Given the description of an element on the screen output the (x, y) to click on. 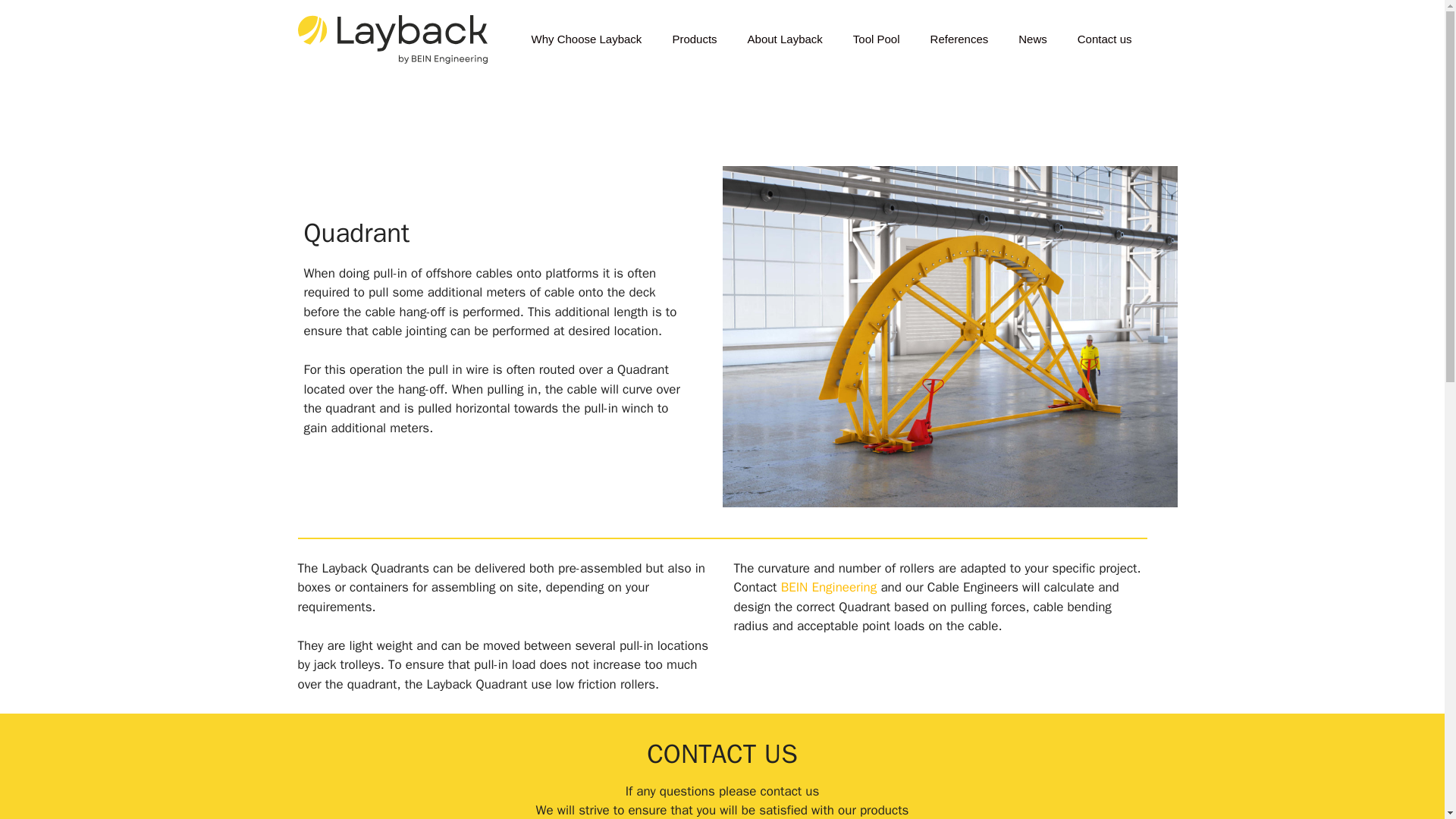
News (1032, 39)
Products (694, 39)
Why Choose Layback (585, 39)
Tool Pool (876, 39)
About Layback (785, 39)
BEIN Engineering (828, 587)
References (959, 39)
Contact us (1104, 39)
